Given the description of an element on the screen output the (x, y) to click on. 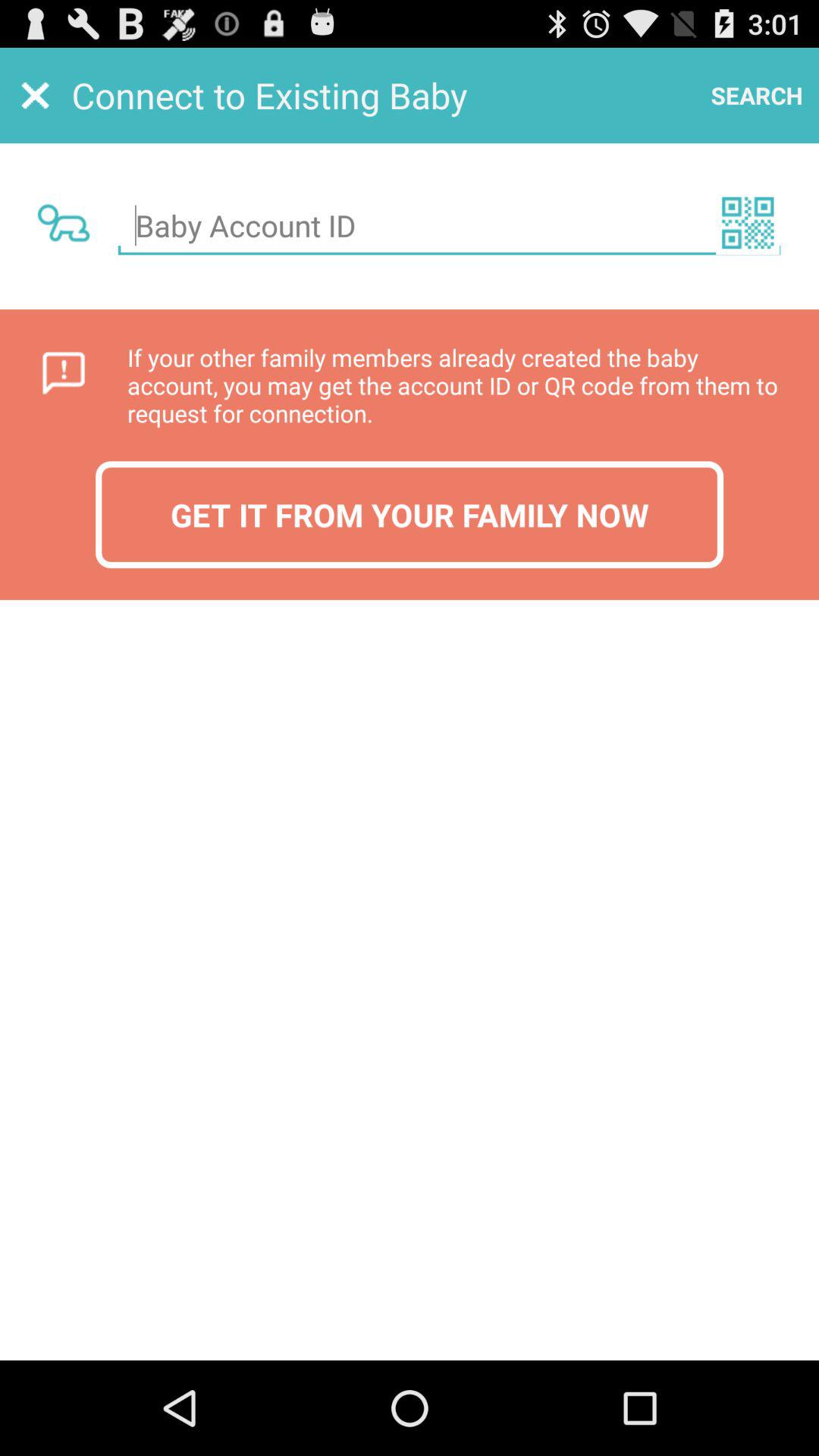
baby account id input box (449, 226)
